Given the description of an element on the screen output the (x, y) to click on. 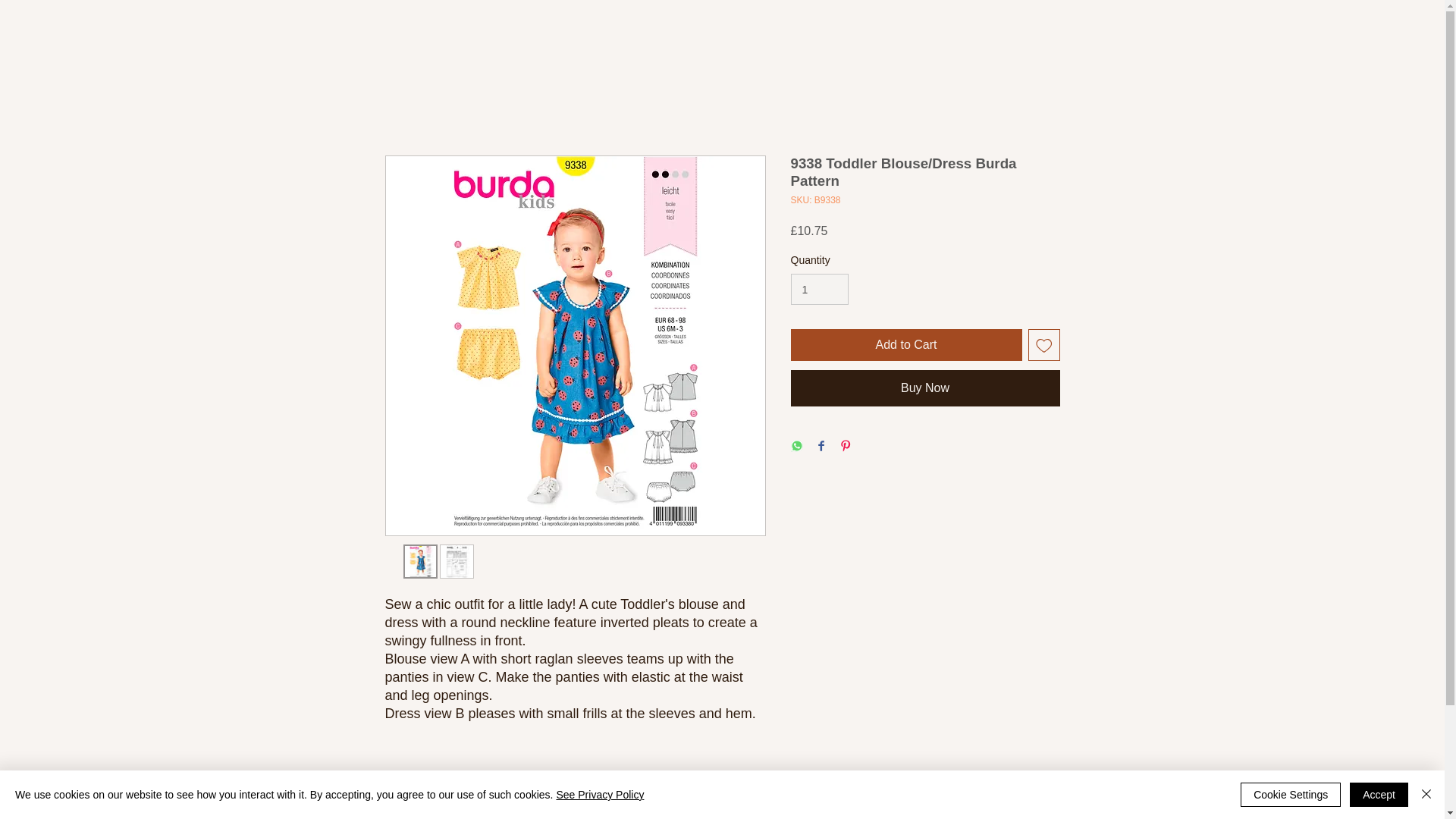
1 (818, 288)
